Given the description of an element on the screen output the (x, y) to click on. 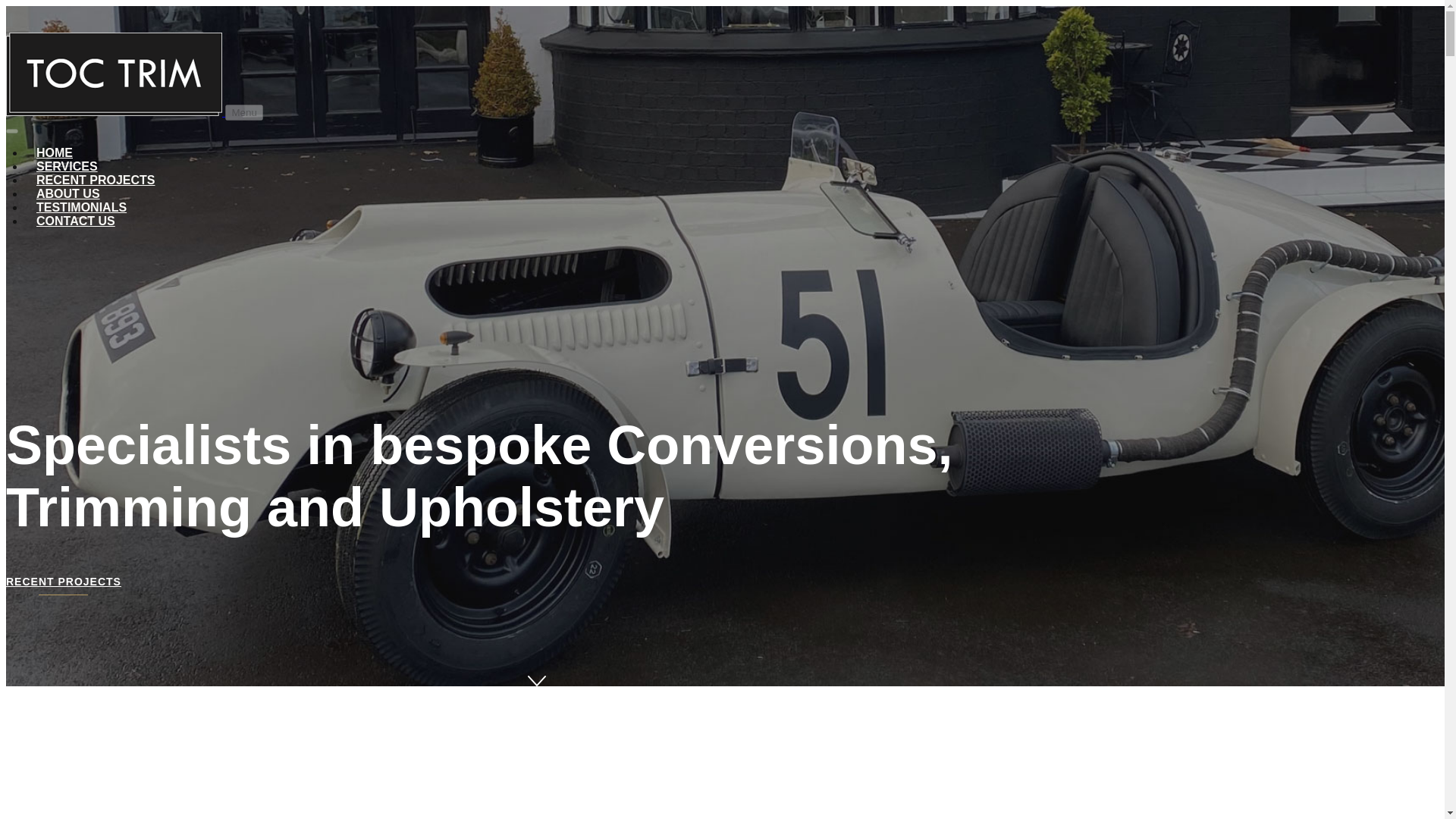
RECENT PROJECTS (94, 180)
SERVICES (66, 166)
TESTIMONIALS (81, 207)
RECENT PROJECTS (62, 585)
CONTACT US (75, 221)
Menu (243, 112)
ABOUT US (68, 193)
HOME (54, 152)
